Given the description of an element on the screen output the (x, y) to click on. 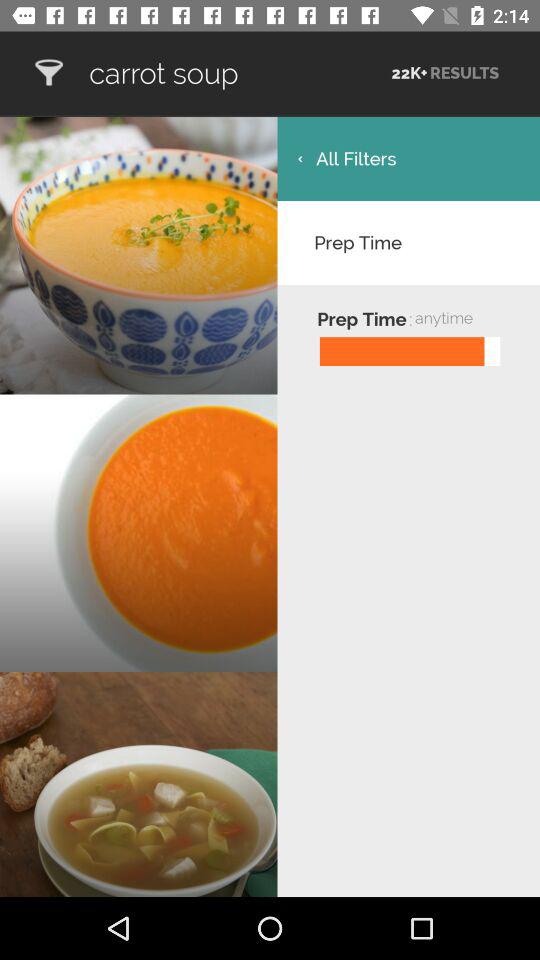
tap carrot soup item (238, 73)
